Given the description of an element on the screen output the (x, y) to click on. 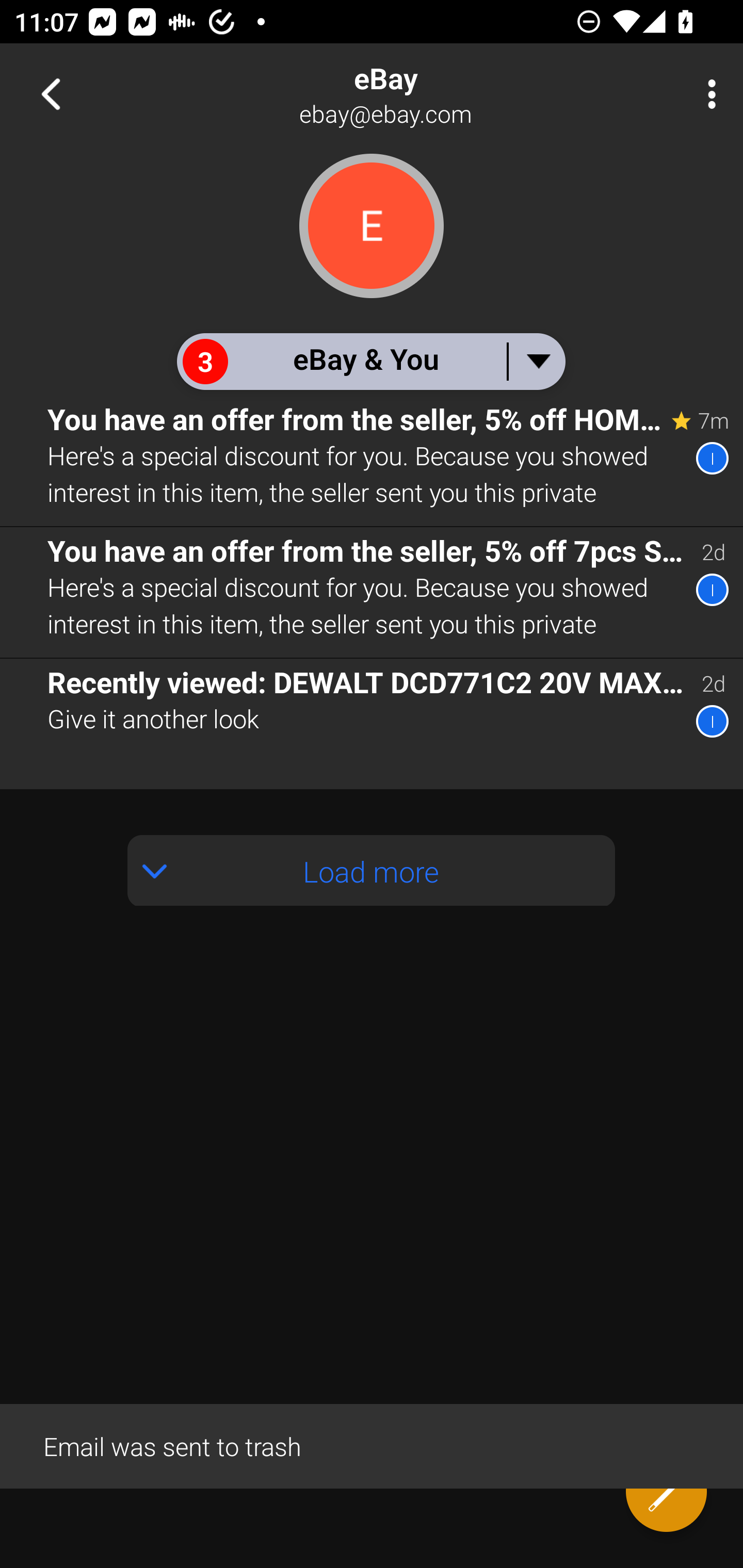
Navigate up (50, 93)
eBay ebay@ebay.com (436, 93)
More Options (706, 93)
3 eBay & You (370, 361)
Load more (371, 870)
Email was sent to trash (371, 1445)
